Given the description of an element on the screen output the (x, y) to click on. 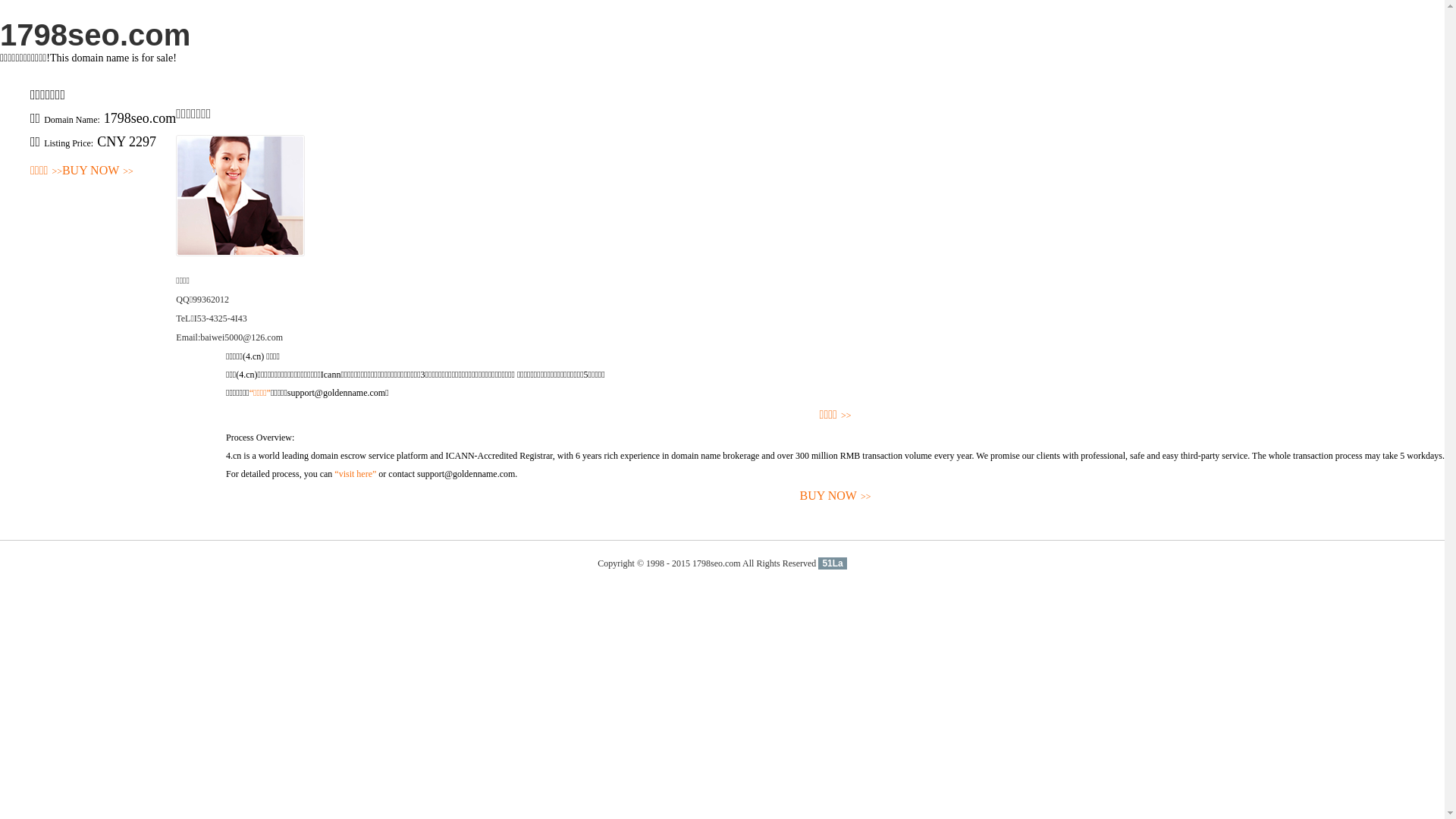
BUY NOW>> Element type: text (834, 496)
51La Element type: text (832, 563)
BUY NOW>> Element type: text (97, 170)
